Given the description of an element on the screen output the (x, y) to click on. 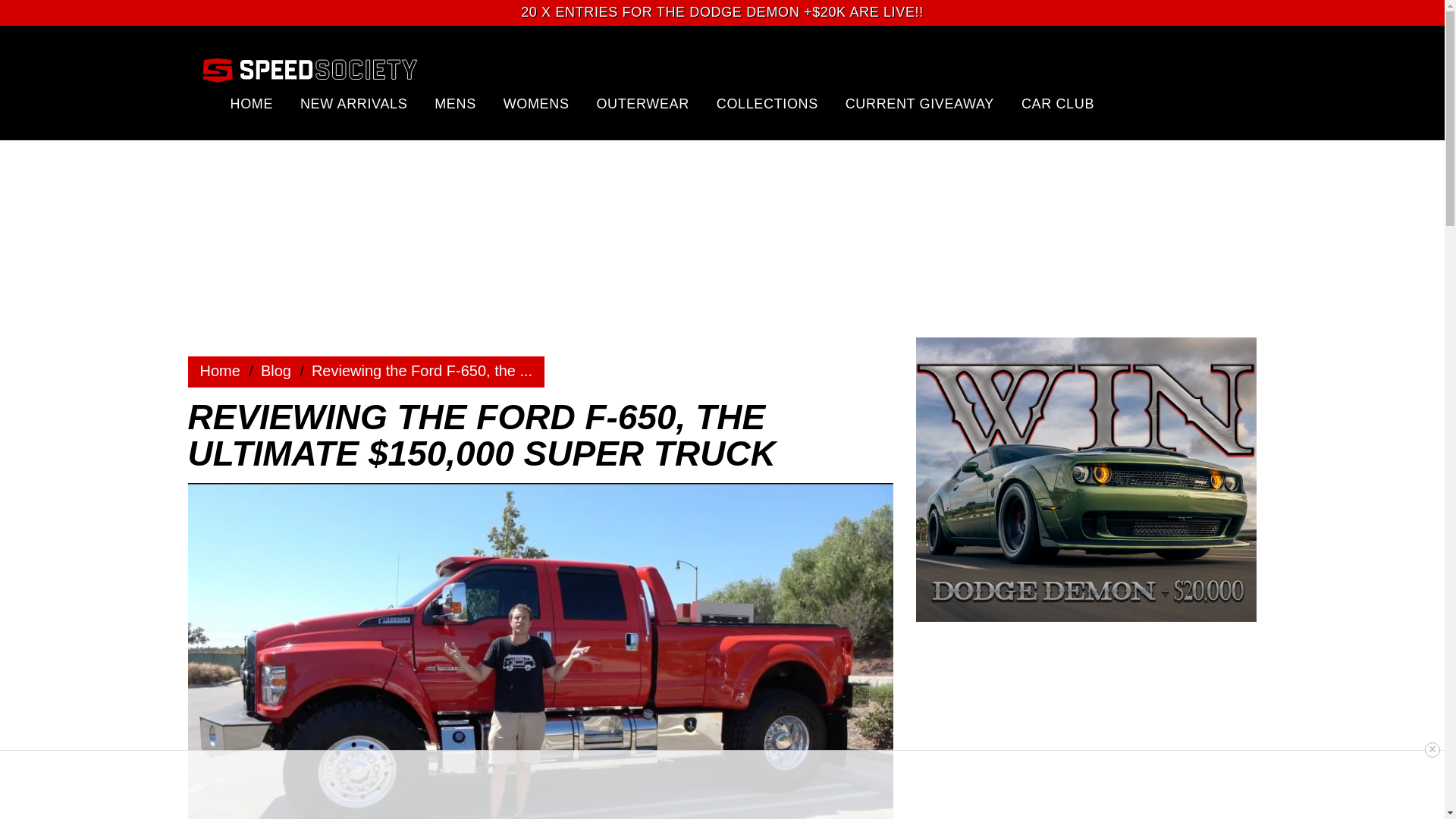
WOMENS (536, 103)
CAR CLUB (1058, 103)
COLLECTIONS (767, 103)
Reviewing the Ford F-650, the ... (421, 370)
Blog (275, 370)
NEW ARRIVALS (353, 103)
Home (220, 370)
Home (275, 370)
OUTERWEAR (641, 103)
MENS (454, 103)
HOME (251, 103)
Home (220, 370)
speed society logo (308, 69)
CURRENT GIVEAWAY (919, 103)
